Given the description of an element on the screen output the (x, y) to click on. 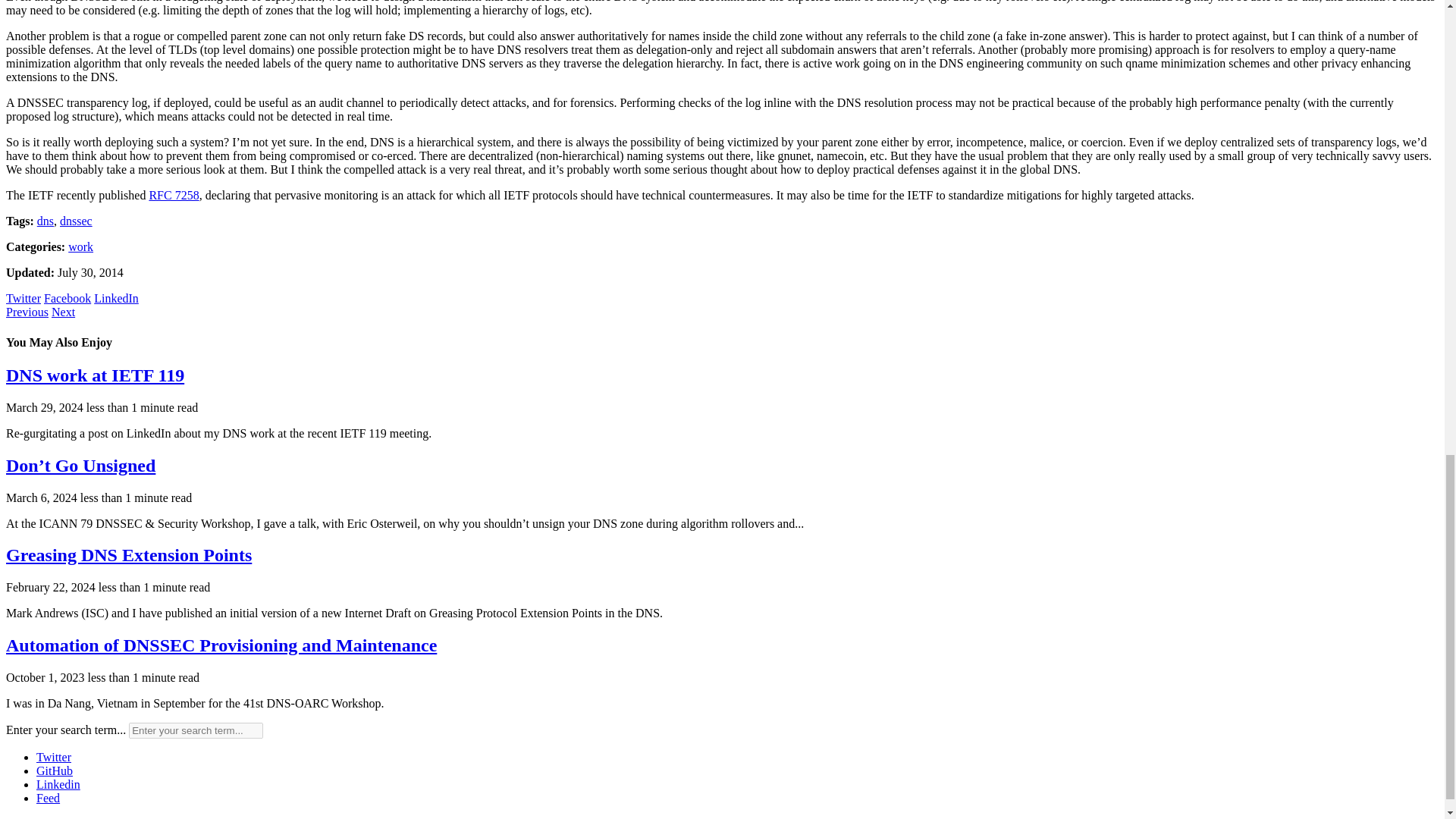
dns (45, 220)
Linkedin (58, 784)
dnssec (76, 220)
Share on LinkedIn (116, 297)
Automation of DNSSEC Provisioning and Maintenance (220, 645)
RFC 7258 (173, 195)
Facebook (66, 297)
GitHub (54, 770)
work (80, 246)
Share on Facebook (66, 297)
